Given the description of an element on the screen output the (x, y) to click on. 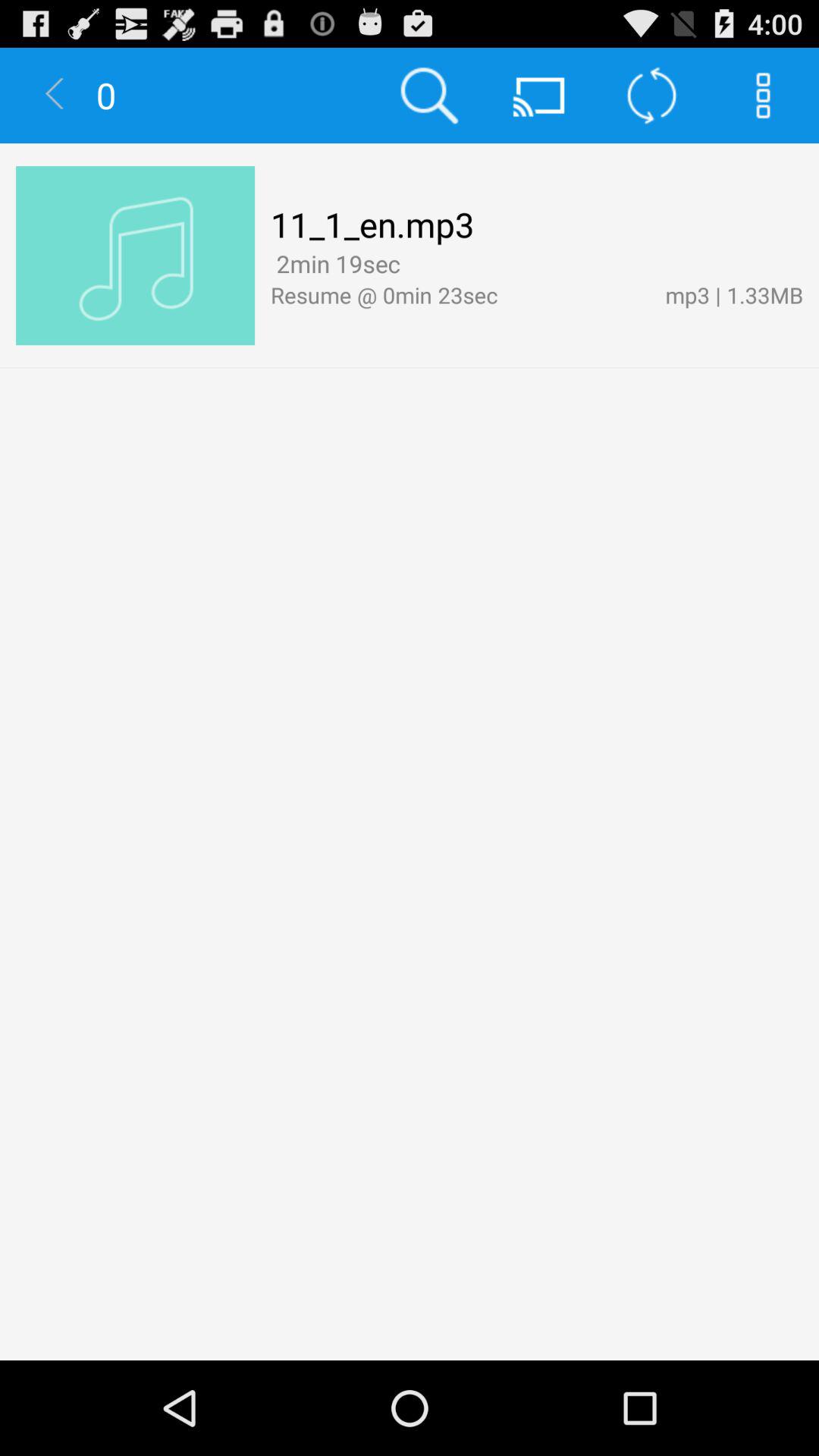
click the 11_1_en.mp3 item (372, 224)
